Given the description of an element on the screen output the (x, y) to click on. 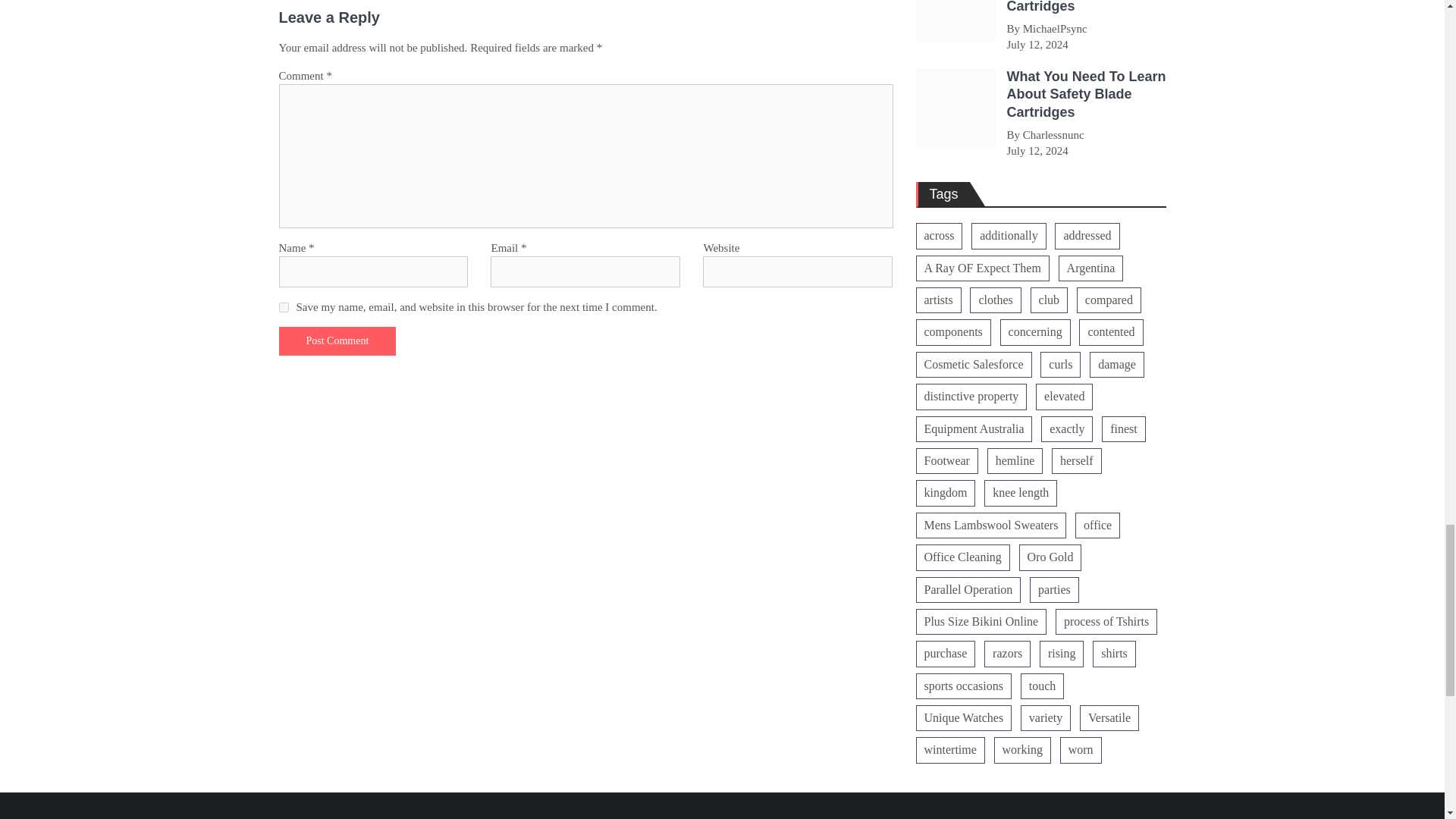
Post Comment (337, 340)
yes (283, 307)
Post Comment (337, 340)
